Given the description of an element on the screen output the (x, y) to click on. 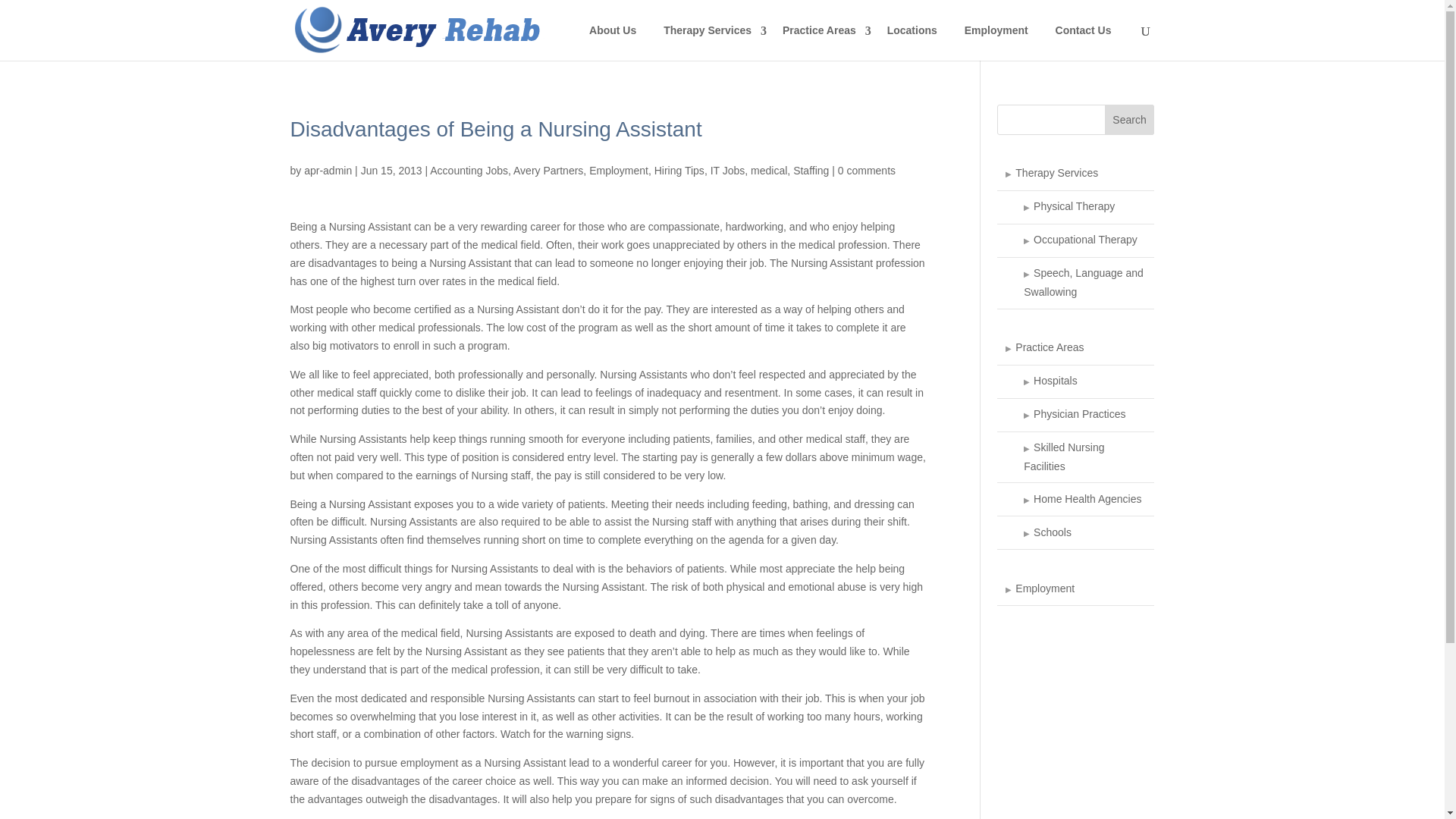
Physician Practices (1075, 415)
0 comments (866, 169)
medical (769, 169)
Practice Areas (820, 36)
Search (1129, 119)
Practice Areas (1075, 348)
Therapy Services (709, 36)
Schools (1075, 532)
Avery Partners (548, 169)
Hospitals (1075, 381)
